Given the description of an element on the screen output the (x, y) to click on. 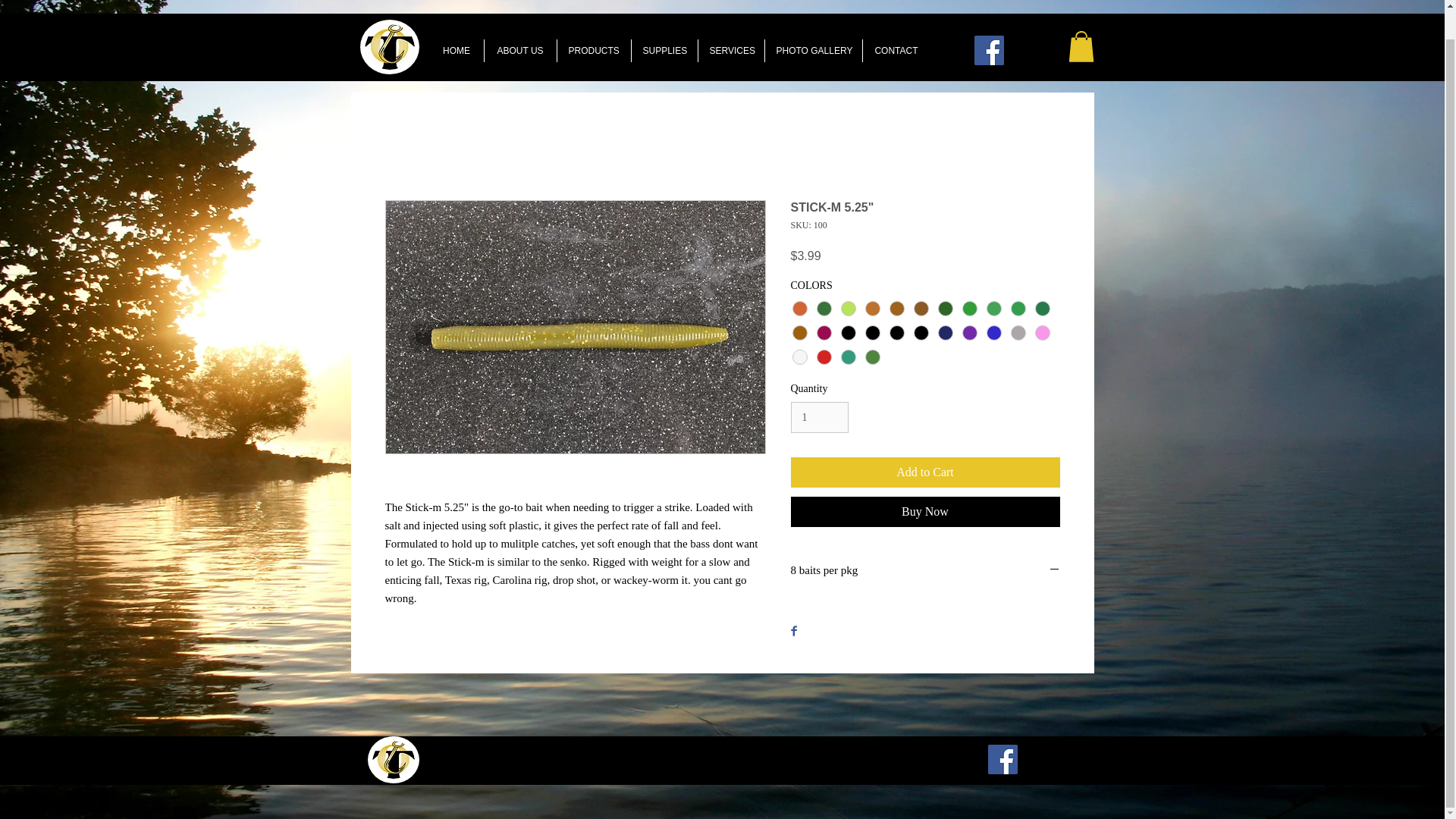
PHOTO GALLERY (812, 50)
HOME (456, 50)
8 baits per pkg (924, 571)
Buy Now (924, 511)
Add to Cart (924, 472)
CONTACT (896, 50)
ABOUT US (519, 50)
SERVICES (729, 50)
